Given the description of an element on the screen output the (x, y) to click on. 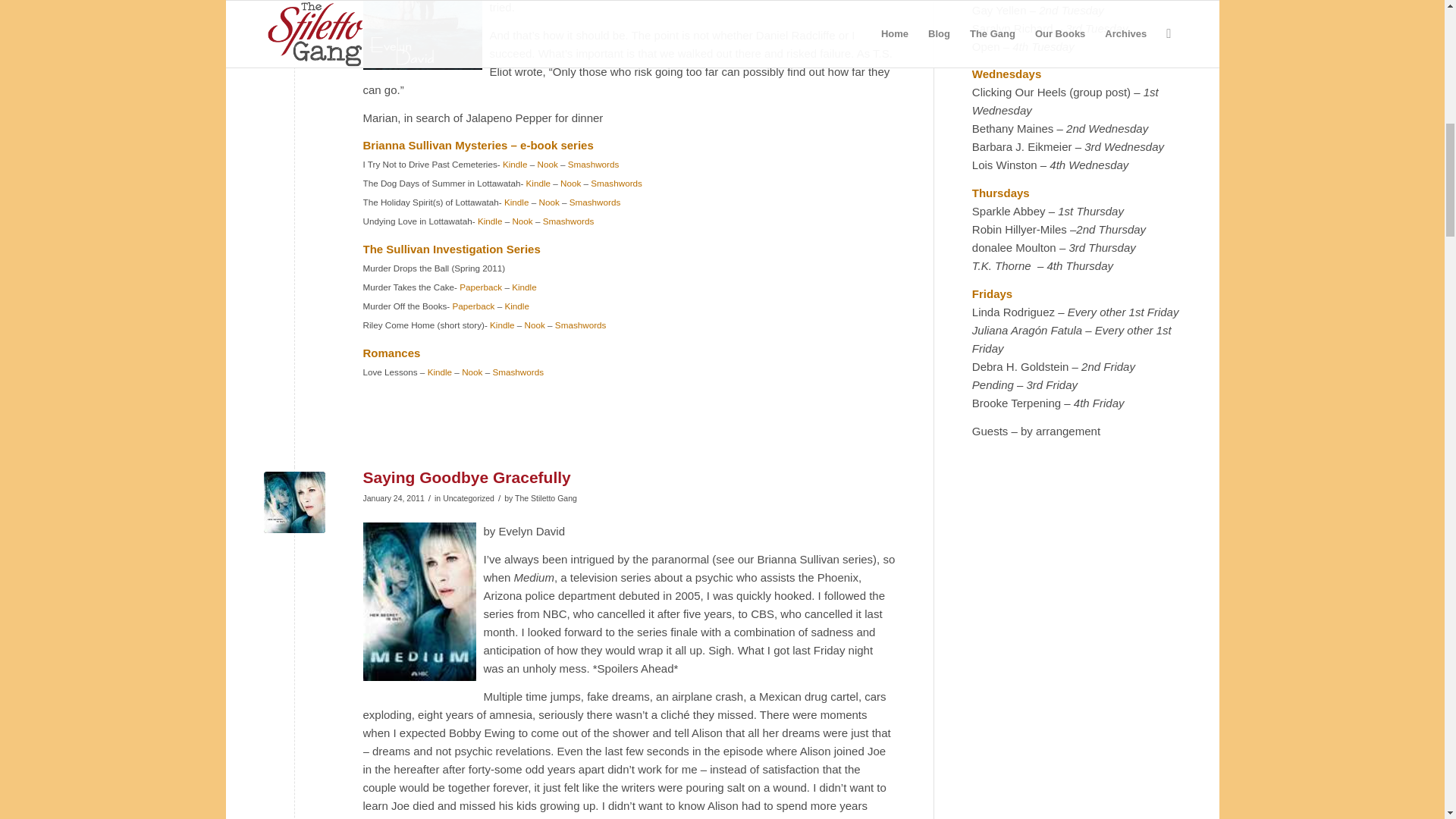
The Stiletto Gang (545, 497)
Kindle (514, 163)
Smashwords (568, 221)
medium.jpeg (293, 502)
Saying Goodbye Gracefully (466, 477)
Smashwords (580, 325)
Paperback (473, 306)
Nook (548, 202)
Kindle (440, 371)
Nook (471, 371)
